Given the description of an element on the screen output the (x, y) to click on. 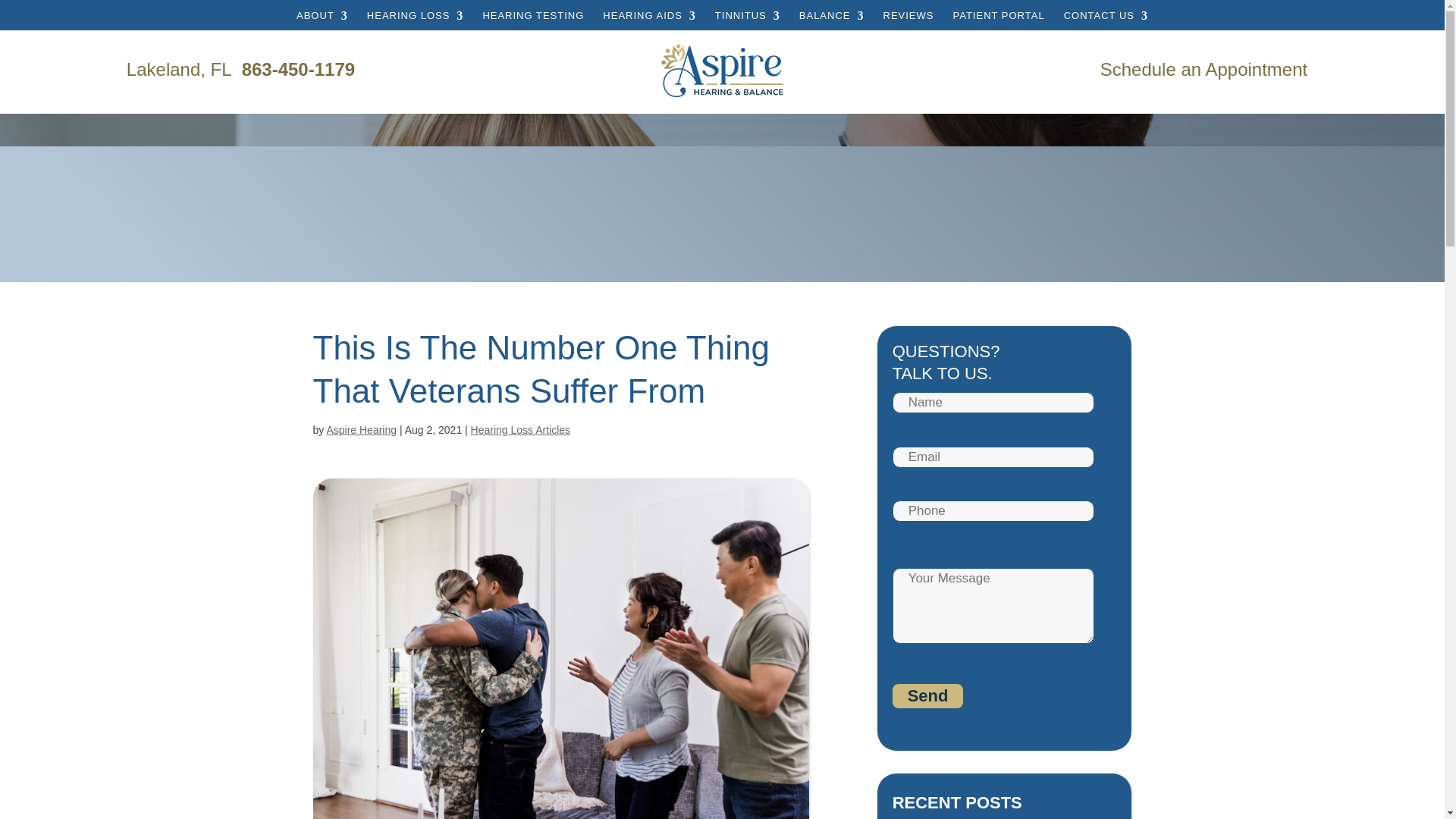
Posts by Aspire Hearing (361, 429)
Send (927, 695)
HEARING TESTING (532, 25)
BALANCE (831, 25)
ABOUT (322, 25)
CONTACT US (1106, 25)
Aspire Hearing (722, 96)
HEARING AIDS (648, 25)
Send (927, 695)
863-450-1179 (298, 68)
